Given the description of an element on the screen output the (x, y) to click on. 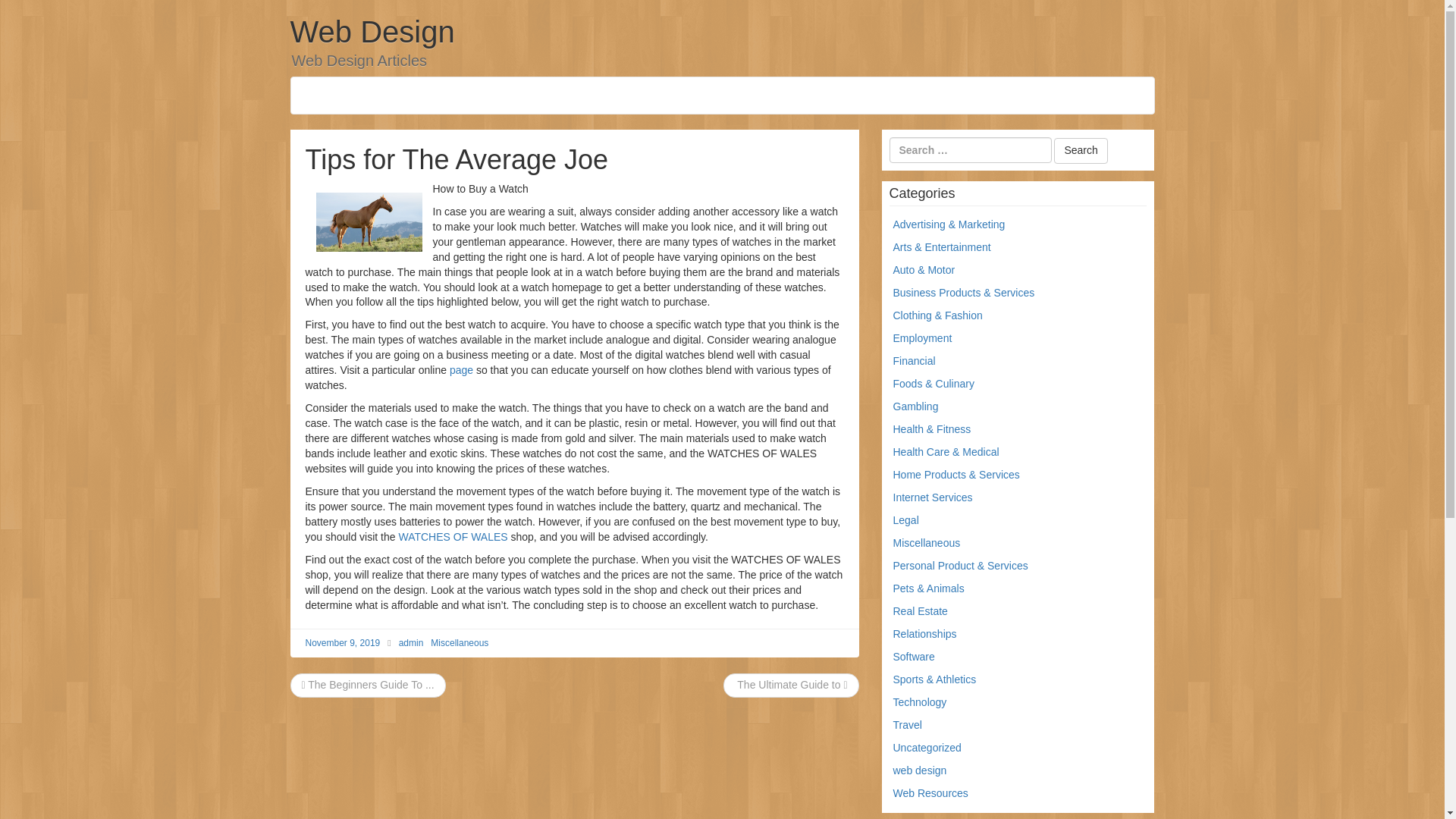
Internet Services (932, 497)
Technology (920, 702)
Web Design (371, 31)
web design (920, 770)
 The Beginners Guide To ... (367, 684)
Web Design (371, 31)
Search for: (969, 149)
Miscellaneous (458, 643)
Search (1080, 150)
November 9, 2019 (342, 643)
Relationships (924, 633)
Legal (905, 520)
Gambling (916, 406)
Travel (907, 725)
Employment (922, 337)
